Given the description of an element on the screen output the (x, y) to click on. 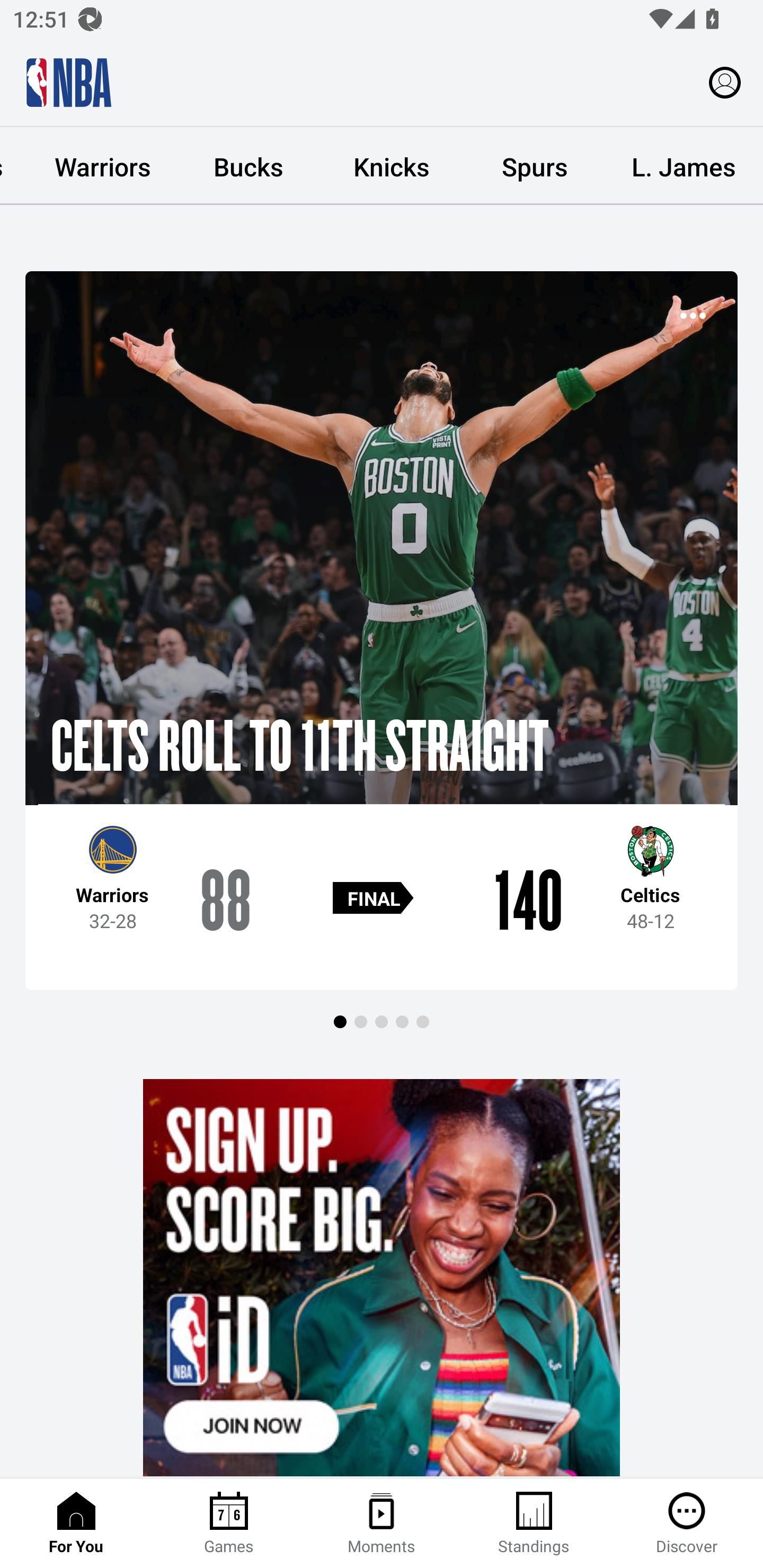
Profile (724, 81)
Warriors (102, 166)
Bucks (248, 166)
Knicks (391, 166)
Spurs (534, 166)
L. James (683, 166)
Games (228, 1523)
Moments (381, 1523)
Standings (533, 1523)
Discover (686, 1523)
